Given the description of an element on the screen output the (x, y) to click on. 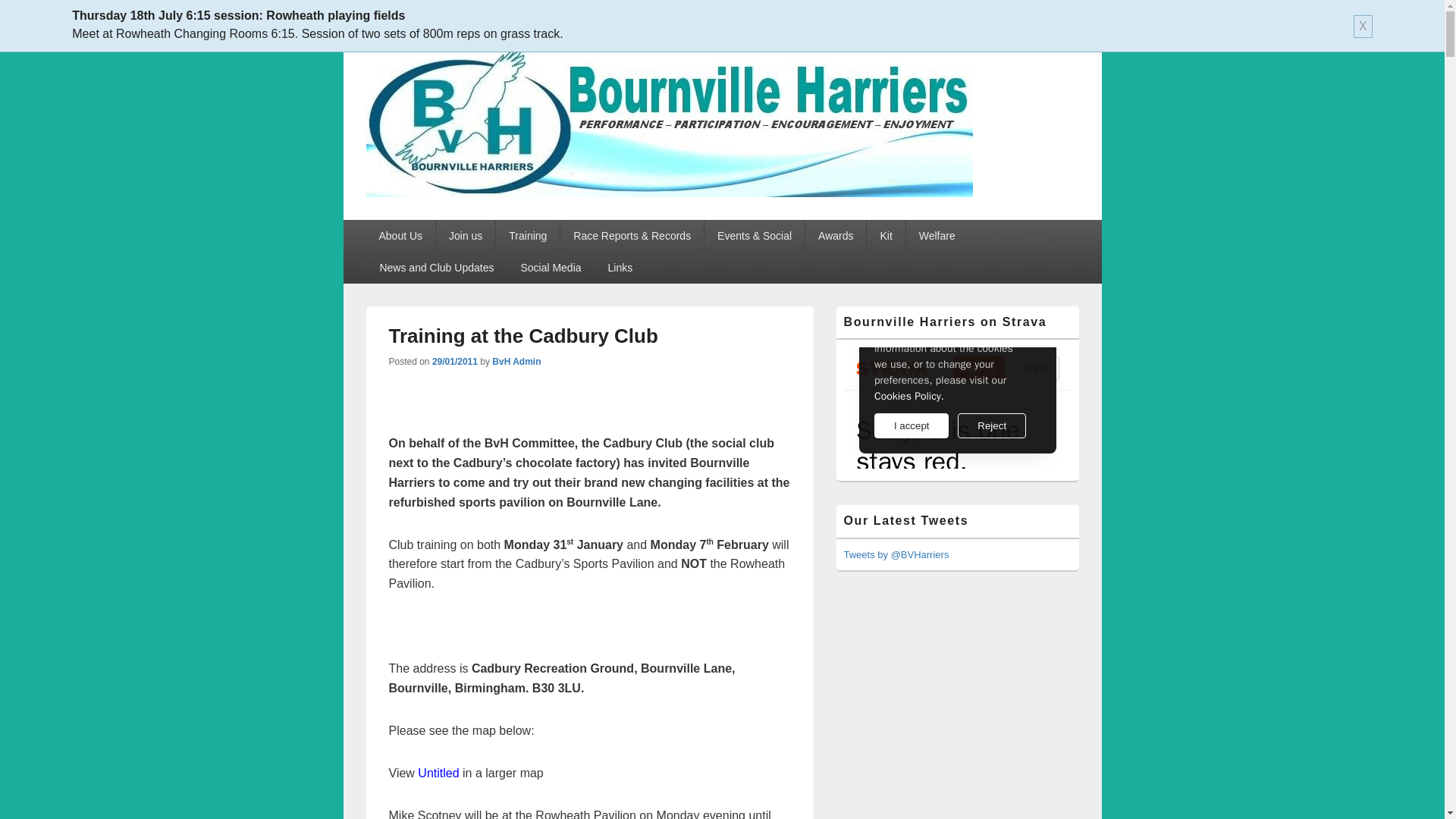
About Us (400, 235)
Training (527, 235)
View all posts by BvH Admin (516, 361)
Bournville Harriers (488, 214)
Join us (465, 235)
12:51 pm (454, 361)
